Given the description of an element on the screen output the (x, y) to click on. 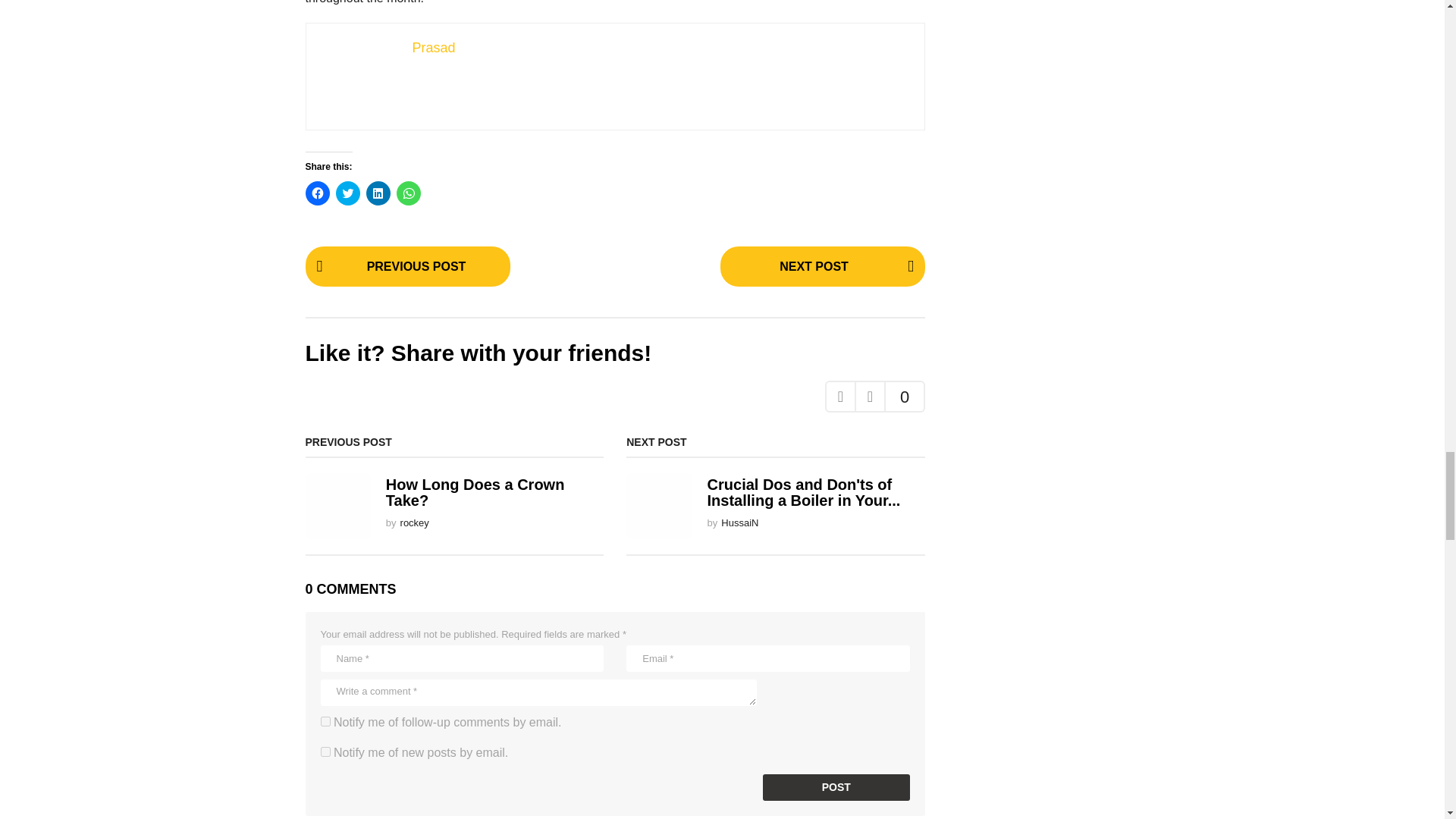
Post (836, 786)
Click to share on LinkedIn (377, 192)
subscribe (325, 751)
subscribe (325, 721)
Click to share on Facebook (316, 192)
Prasad (433, 47)
Click to share on WhatsApp (408, 192)
Click to share on Twitter (346, 192)
